Given the description of an element on the screen output the (x, y) to click on. 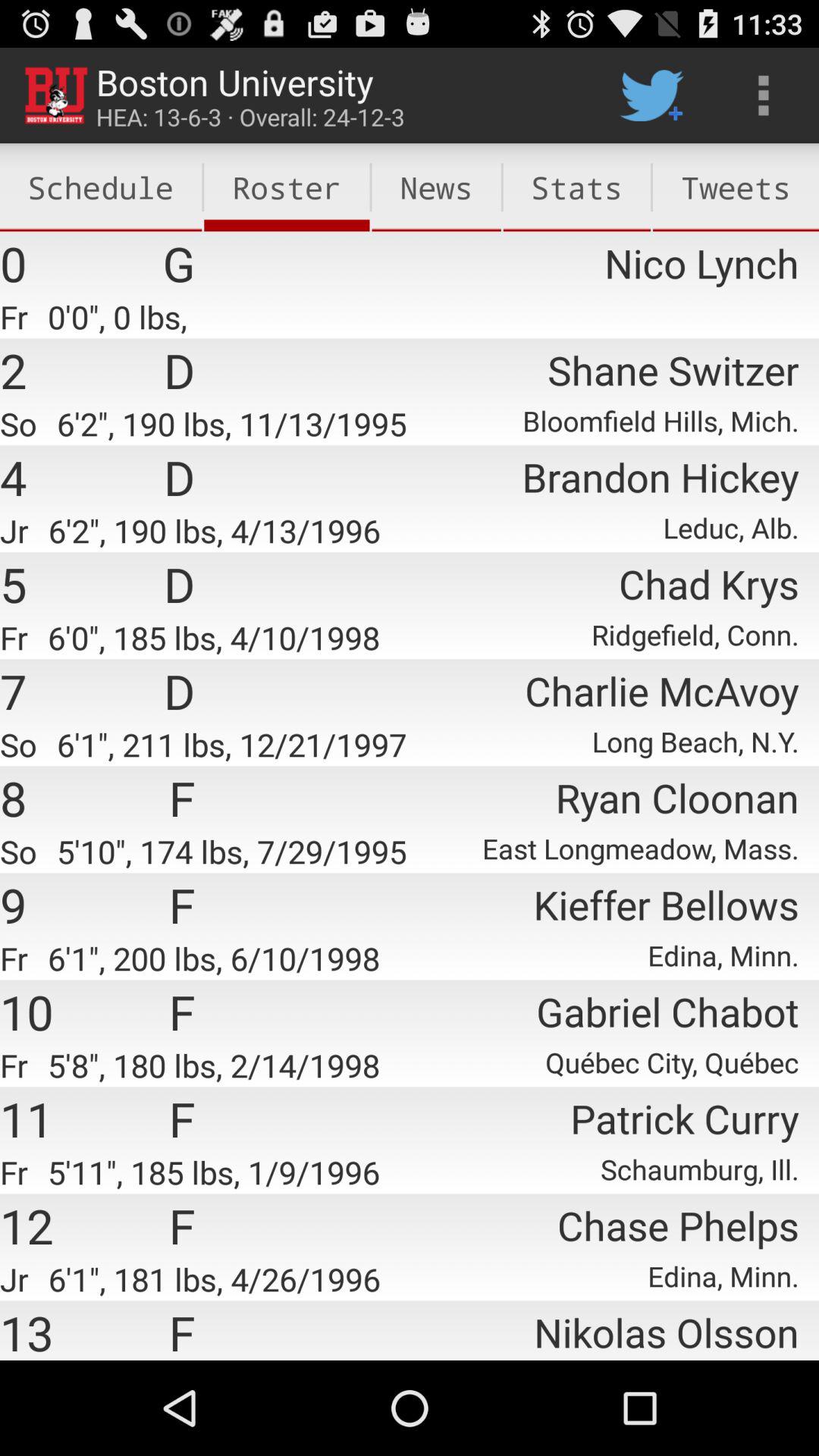
scroll to news (436, 187)
